Given the description of an element on the screen output the (x, y) to click on. 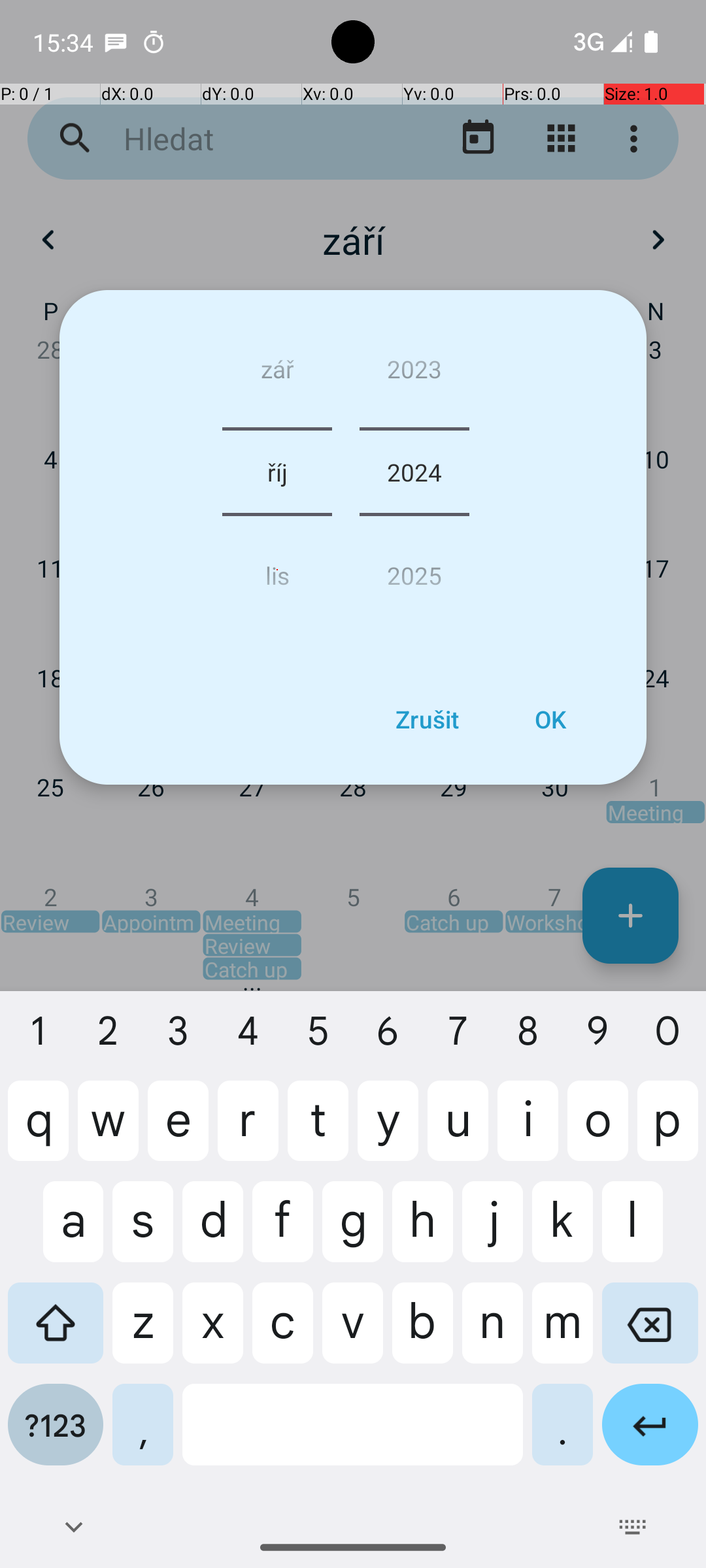
Zrušit Element type: android.widget.Button (426, 719)
zář Element type: android.widget.Button (277, 373)
říj Element type: android.widget.EditText (277, 471)
lis Element type: android.widget.Button (277, 569)
